Given the description of an element on the screen output the (x, y) to click on. 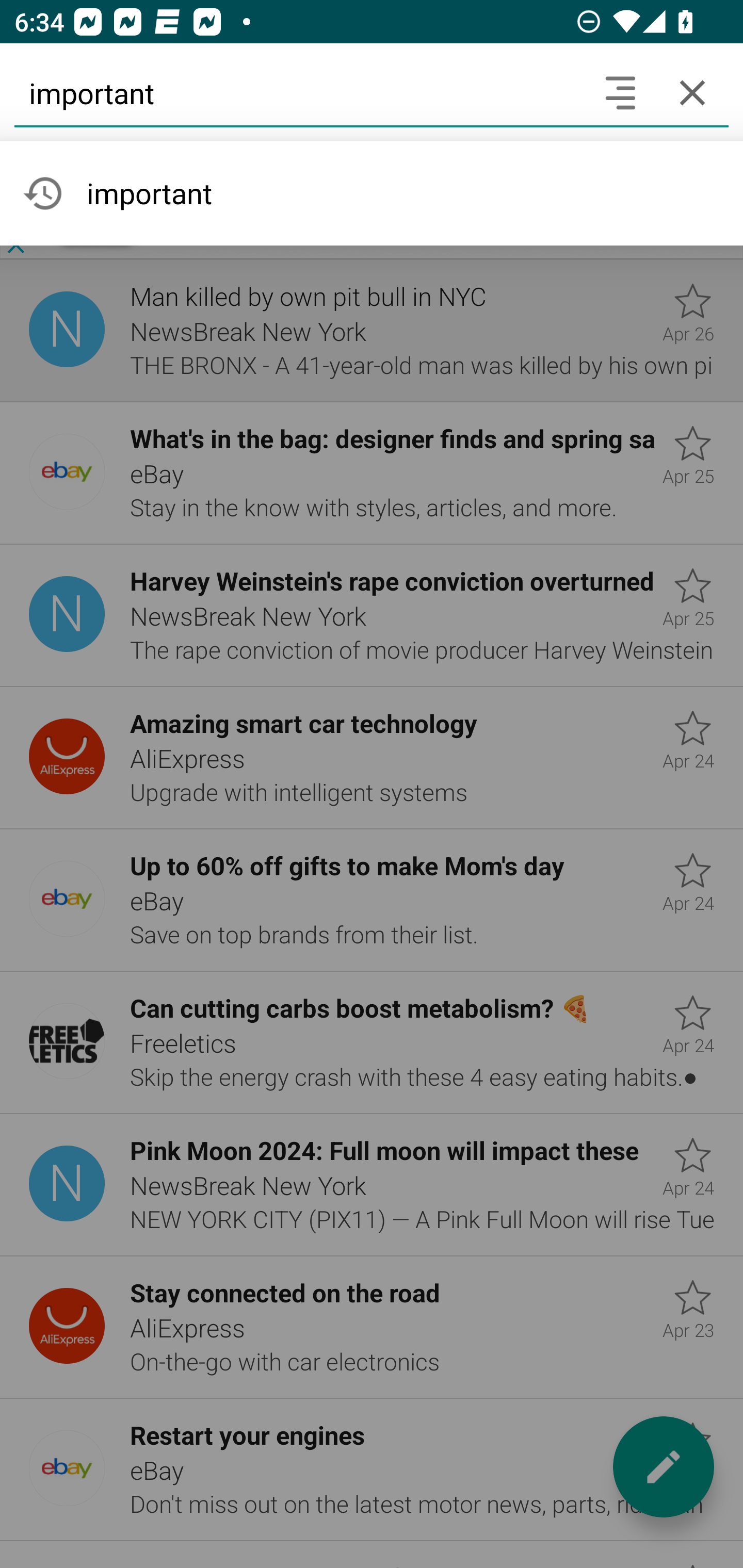
important (298, 92)
Search headers and text (619, 92)
Cancel (692, 92)
